Given the description of an element on the screen output the (x, y) to click on. 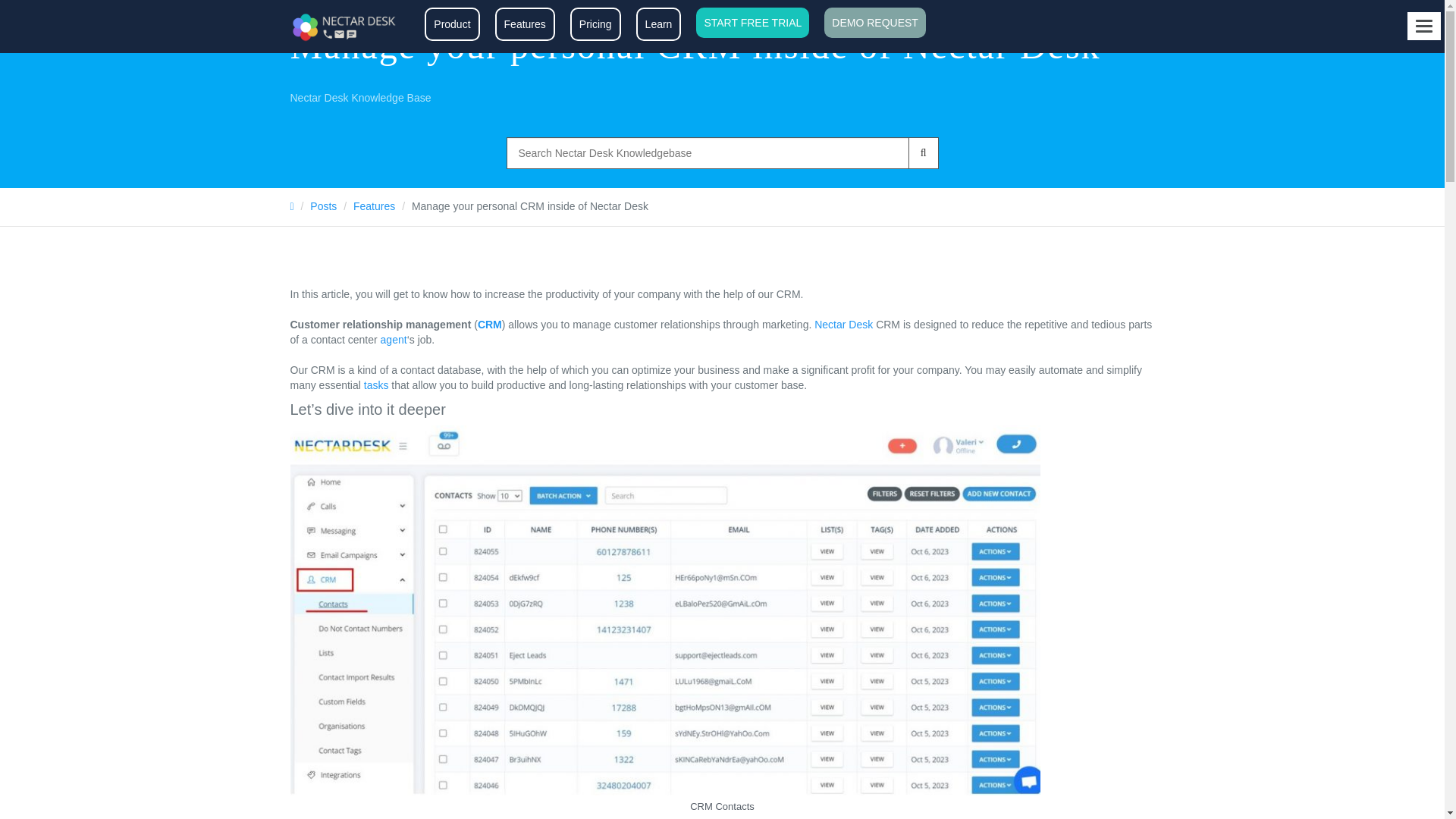
Toggle navigation (1424, 26)
Pricing (595, 23)
Nectar Desk (842, 324)
START FREE TRIAL (752, 22)
Features (373, 205)
tasks (376, 385)
Learn (658, 23)
Pricing (595, 23)
Learn (658, 23)
Product (452, 23)
